Given the description of an element on the screen output the (x, y) to click on. 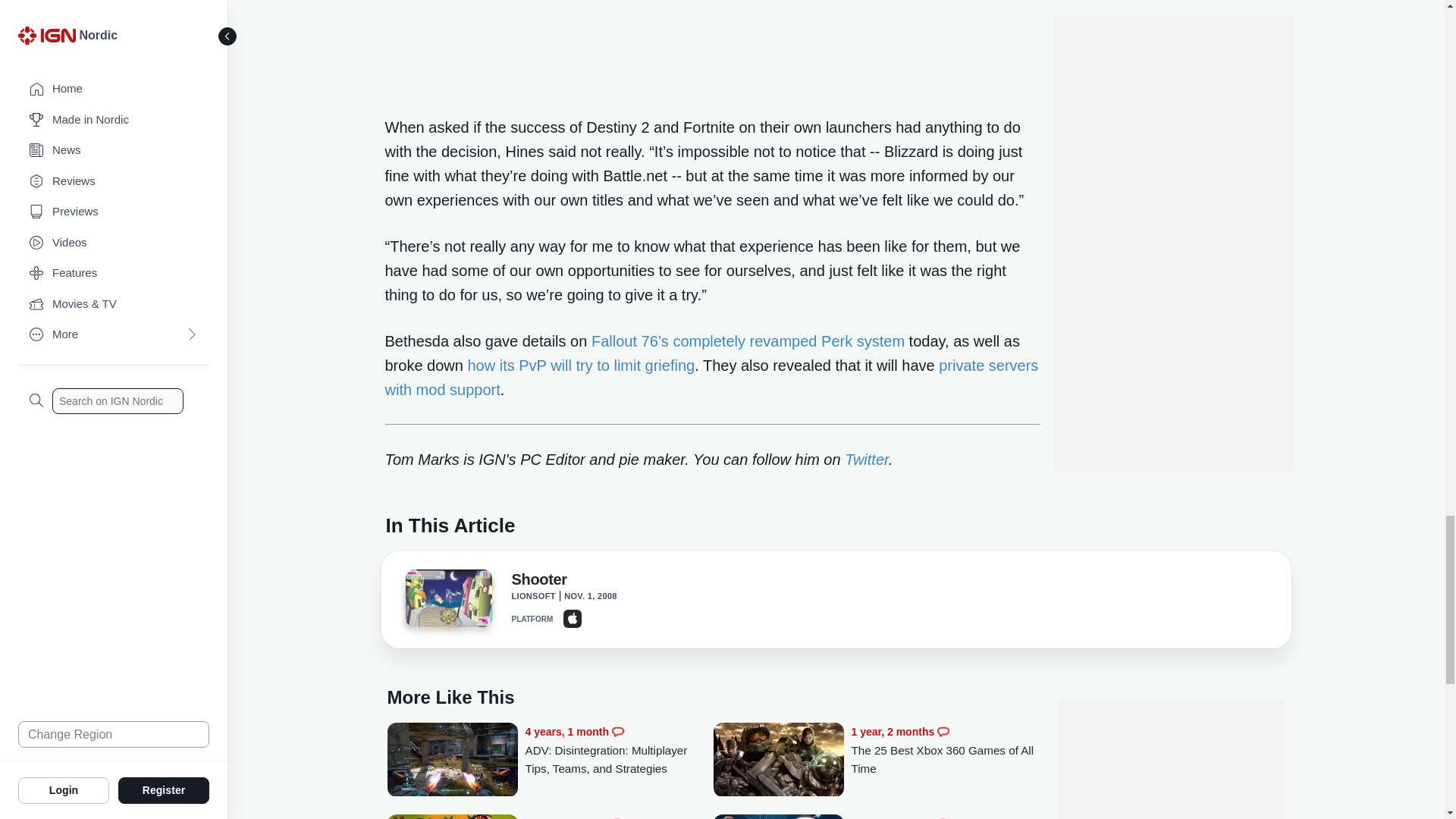
IPHONE (571, 618)
Comments (617, 731)
The 25 Best Xbox 360 Games of All Time (944, 750)
ADV: Disintegration: Multiplayer Tips, Teams, and Strategies (451, 767)
Shooter (448, 602)
25 Best Zombie Games of All Time (618, 816)
25 Best Zombie Games of All Time (451, 816)
The Best PSVR Games to Play in 2023 (778, 816)
Shooter (448, 598)
ADV: Disintegration: Multiplayer Tips, Teams, and Strategies (618, 750)
